Given the description of an element on the screen output the (x, y) to click on. 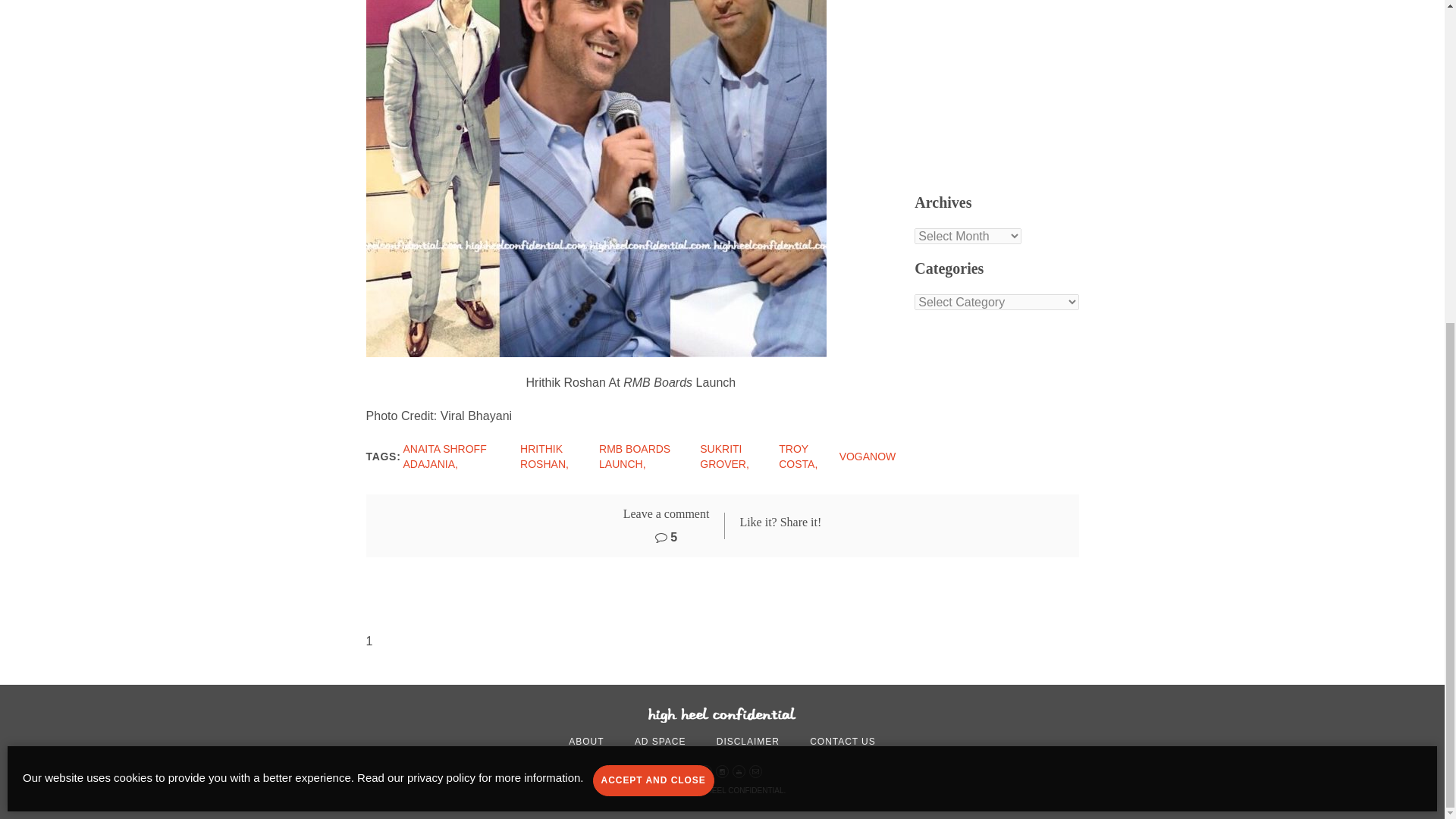
High Heel Confidential (721, 714)
AD SPACE (659, 741)
5 (666, 536)
RMB BOARDS LAUNCH, (633, 456)
HRITHIK ROSHAN, (544, 456)
ANAITA SHROFF ADAJANIA, (444, 456)
CONTACT US (842, 741)
ABOUT (586, 741)
SUKRITI GROVER, (724, 456)
ACCEPT AND CLOSE (653, 252)
DISCLAIMER (747, 741)
Advertisement (1033, 85)
TROY COSTA, (797, 456)
VOGANOW (868, 456)
